Given the description of an element on the screen output the (x, y) to click on. 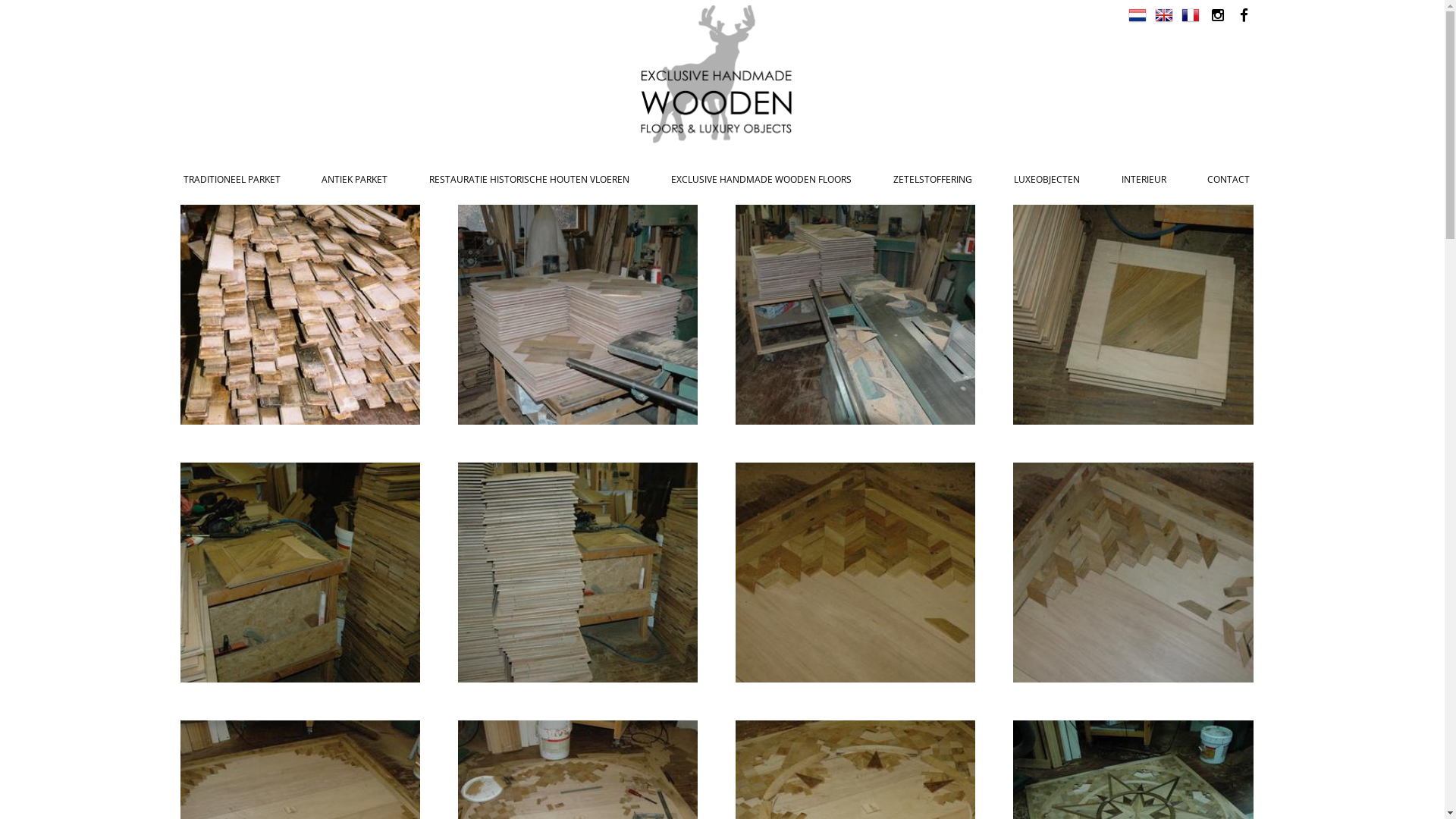
EXCLUSIVE HANDMADE WOODEN FLOORS Element type: text (761, 178)
CONTACT Element type: text (1228, 178)
INTERIEUR Element type: text (1143, 178)
TRADITIONEEL PARKET Element type: text (231, 178)
LUXEOBJECTEN Element type: text (1046, 178)
ZETELSTOFFERING Element type: text (932, 178)
ANTIEK PARKET Element type: text (354, 178)
RESTAURATIE HISTORISCHE HOUTEN VLOEREN Element type: text (529, 178)
